Given the description of an element on the screen output the (x, y) to click on. 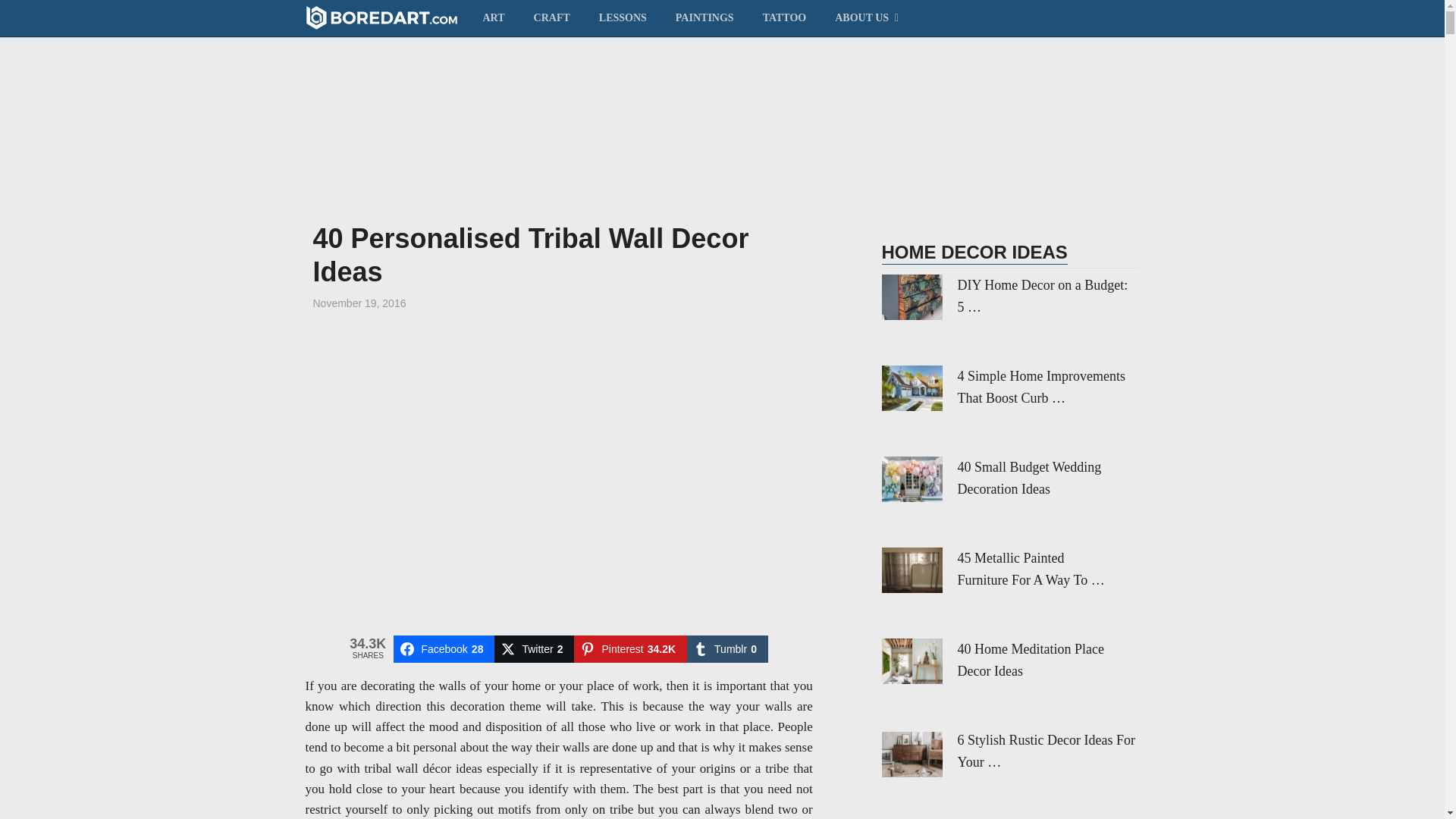
CRAFT (552, 18)
Advertisement (558, 463)
Share on Pinterest (630, 648)
LESSONS (623, 18)
ART (499, 18)
4 Simple Home Improvements That Boost Curb Appeal (1009, 387)
Twitter2 (534, 648)
Pinterest34.2K (630, 648)
TATTOO (784, 18)
DIY Home Decor on a Budget: 5 Creative Ideas (1009, 296)
PAINTINGS (704, 18)
ABOUT US (864, 18)
Share on Tumblr (727, 648)
Facebook28 (444, 648)
Share on Facebook (444, 648)
